Given the description of an element on the screen output the (x, y) to click on. 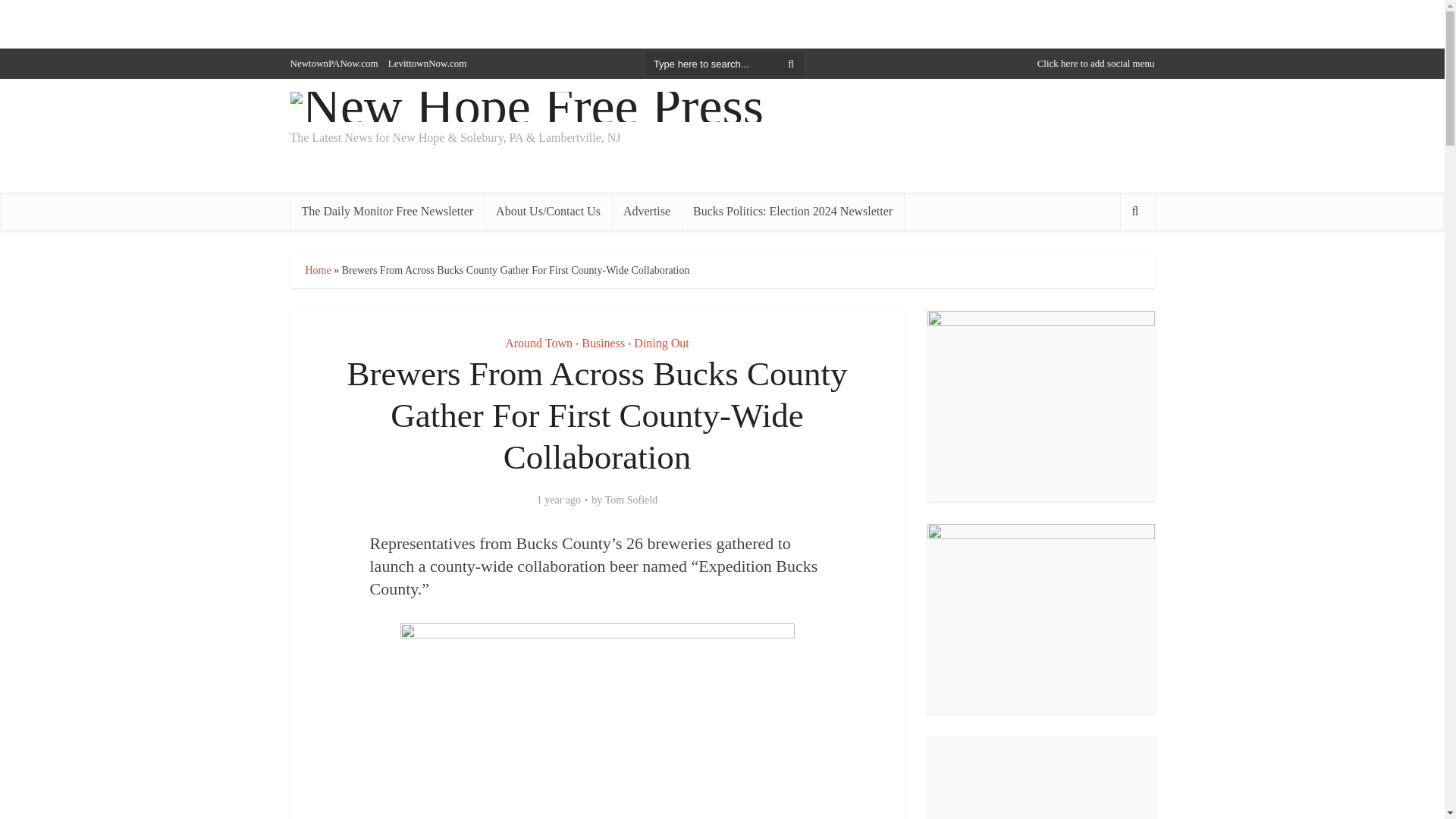
Type here to search... (724, 63)
Home (317, 270)
Advertise (646, 211)
Bucks Politics: Election 2024 Newsletter (792, 211)
Tom Sofield (631, 499)
Business (602, 342)
Dining Out (660, 342)
New Hope Free Press (525, 104)
Around Town (538, 342)
NewtownPANow.com (333, 62)
